Given the description of an element on the screen output the (x, y) to click on. 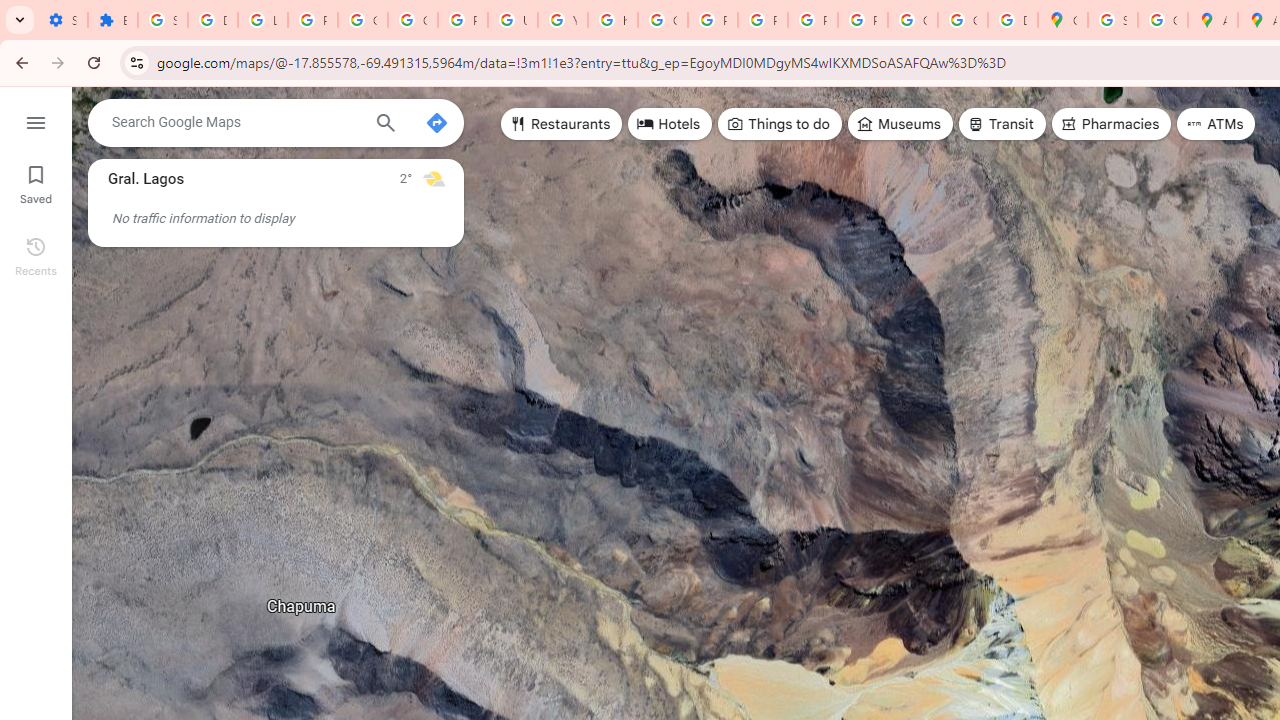
Delete photos & videos - Computer - Google Photos Help (213, 20)
Google Account Help (362, 20)
https://scholar.google.com/ (612, 20)
Pharmacies (1111, 124)
Hotels (670, 124)
Directions (436, 122)
Transit (1001, 124)
